Given the description of an element on the screen output the (x, y) to click on. 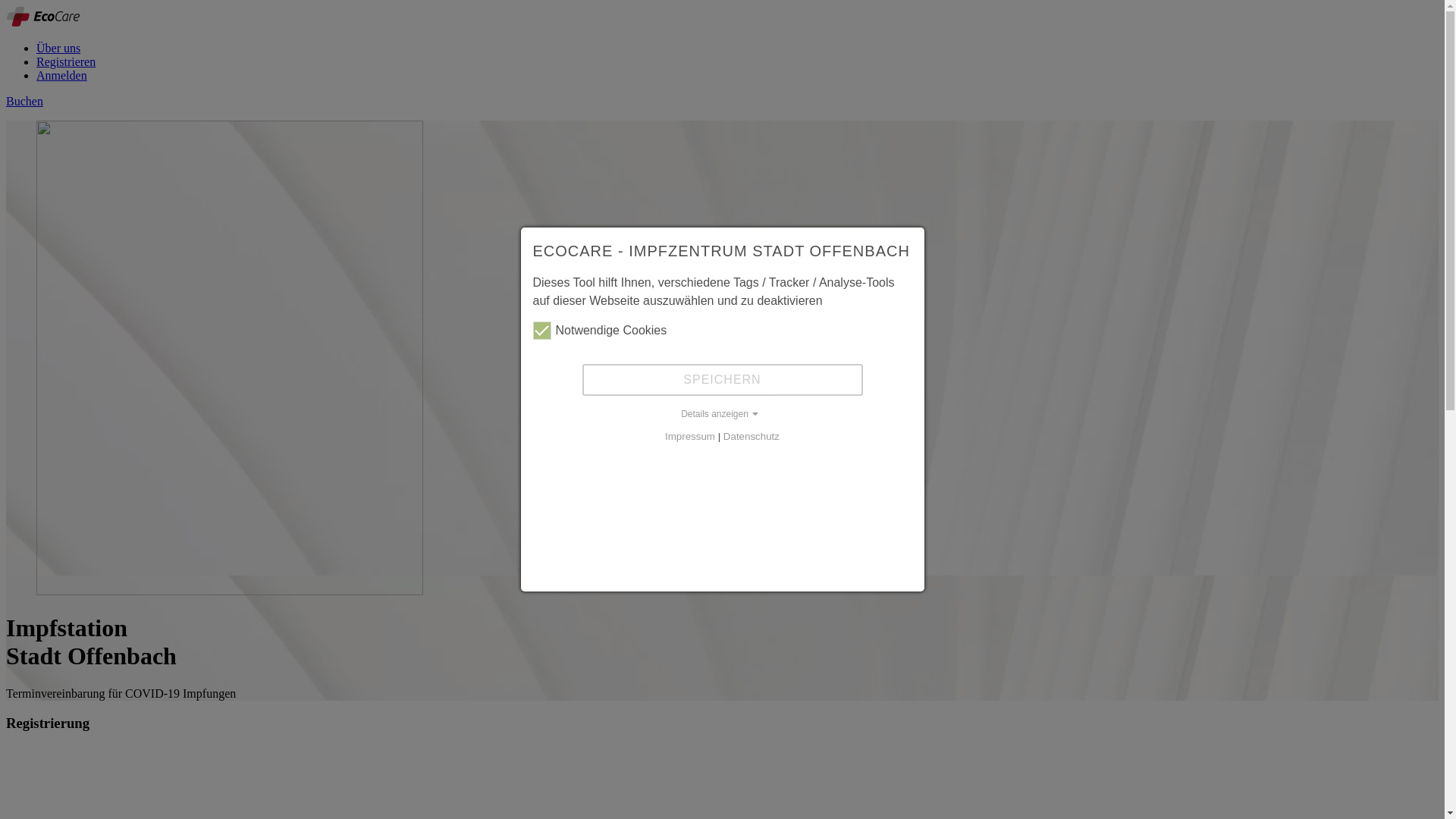
Datenschutz Element type: text (751, 436)
Impressum Element type: text (690, 436)
Anmelden Element type: text (61, 75)
Details anzeigen Element type: text (721, 413)
Home Element type: hover (42, 21)
Registrieren Element type: text (65, 61)
Buchen Element type: text (24, 100)
SPEICHERN Element type: text (722, 379)
